Given the description of an element on the screen output the (x, y) to click on. 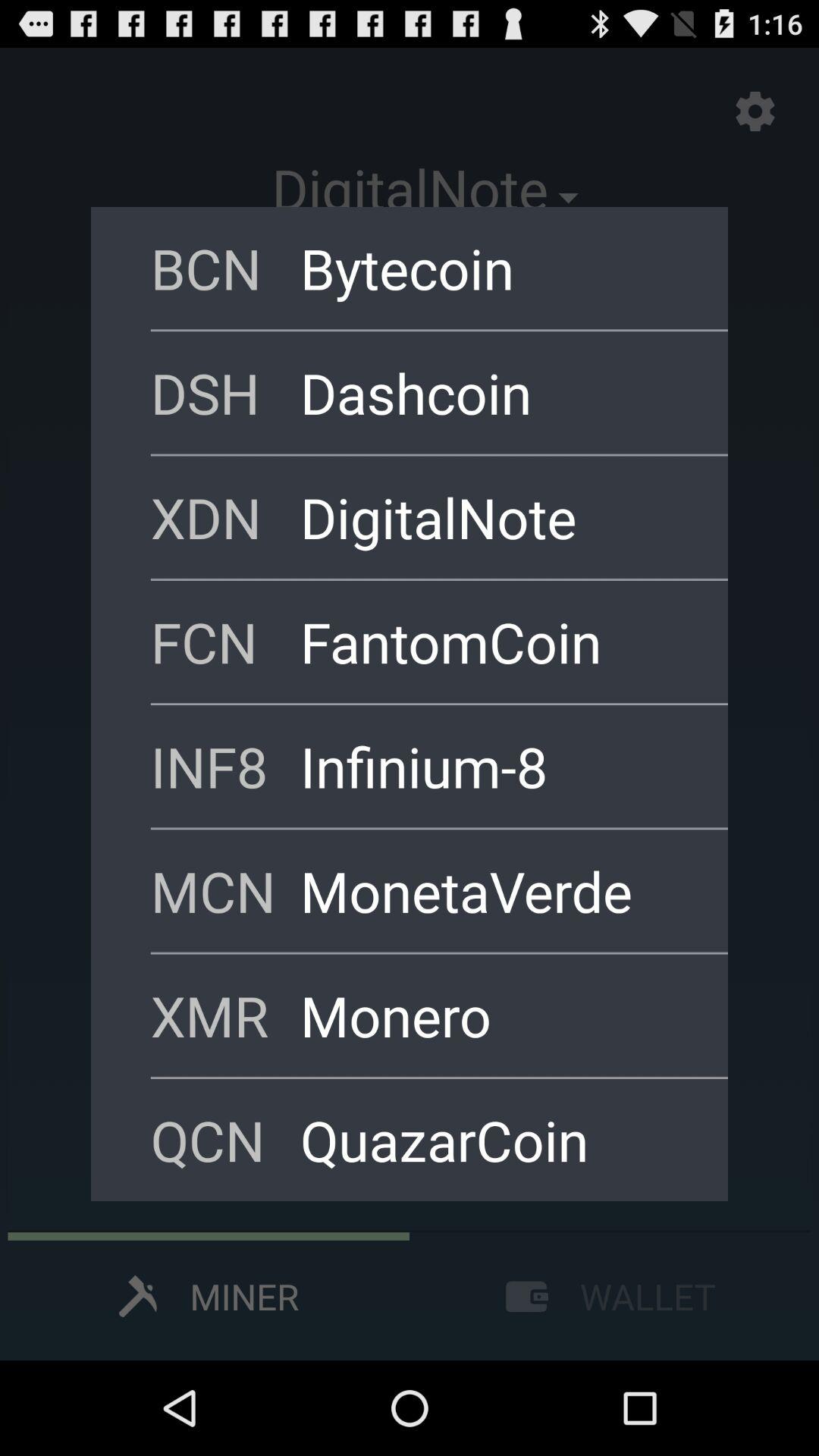
click the icon to the left of the digitalnote (225, 517)
